Given the description of an element on the screen output the (x, y) to click on. 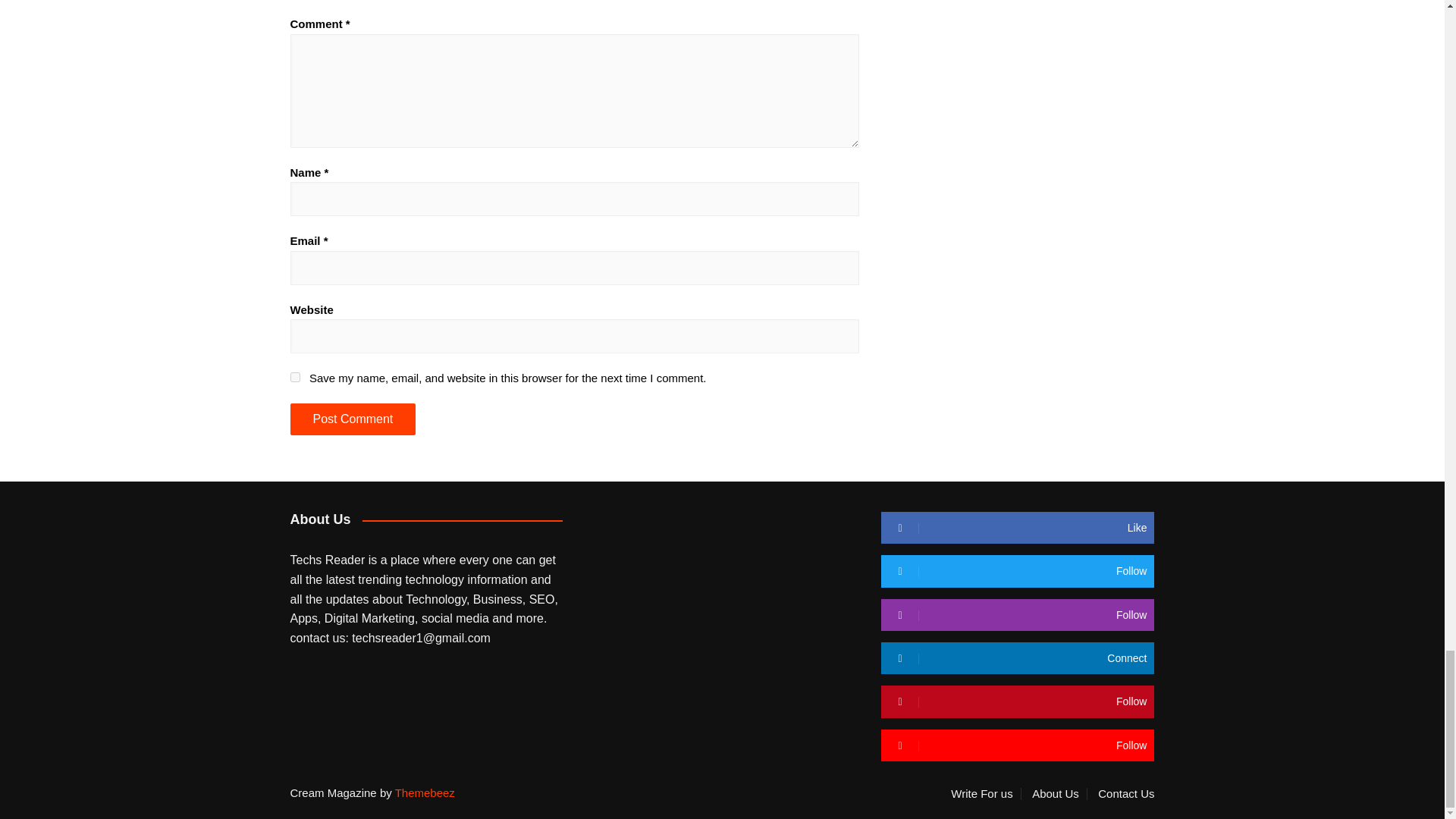
Download This Theme (985, 793)
Post Comment (351, 418)
yes (294, 377)
